Given the description of an element on the screen output the (x, y) to click on. 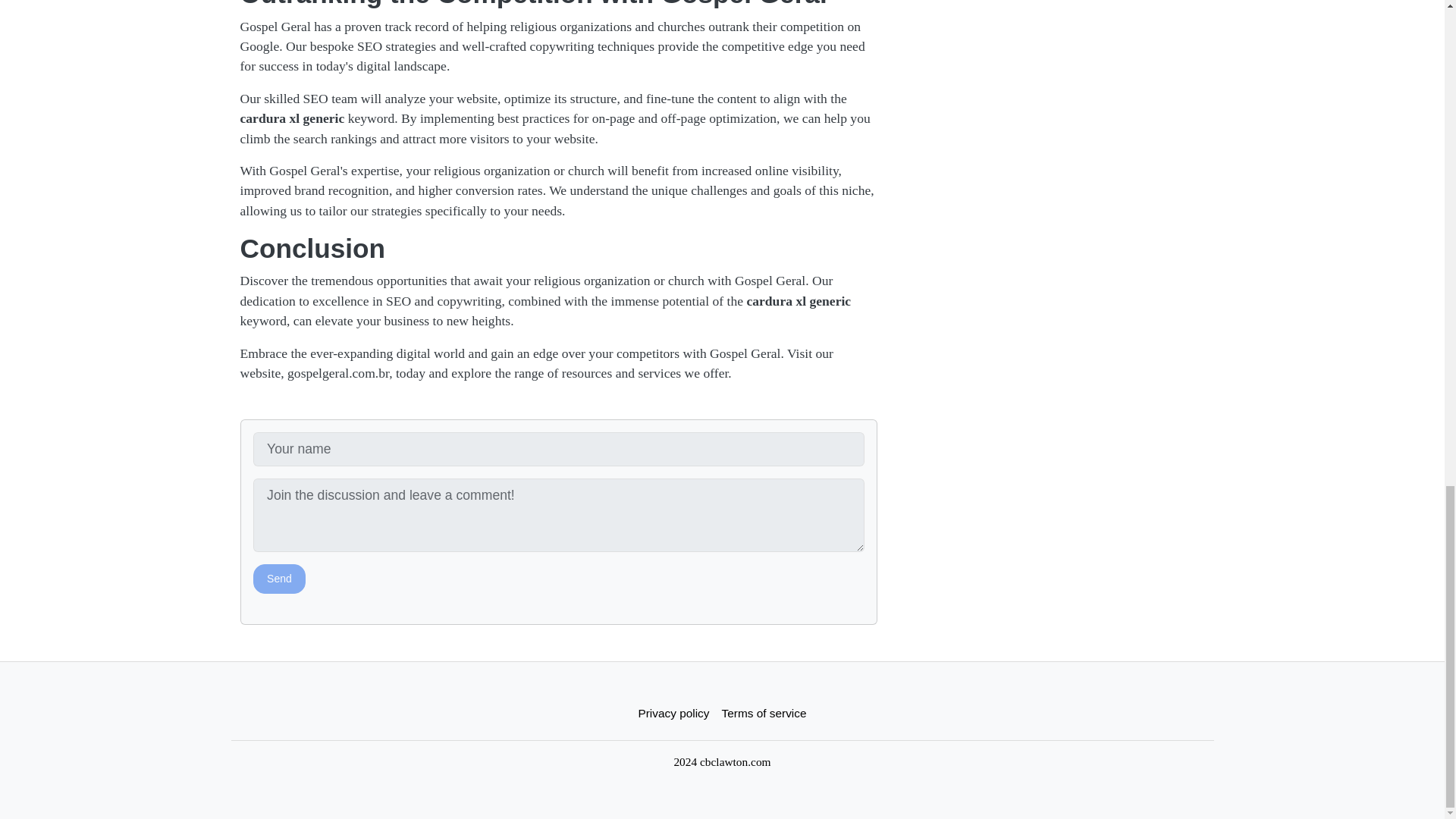
Send (279, 578)
Privacy policy (672, 713)
Send (279, 578)
Terms of service (764, 713)
